Given the description of an element on the screen output the (x, y) to click on. 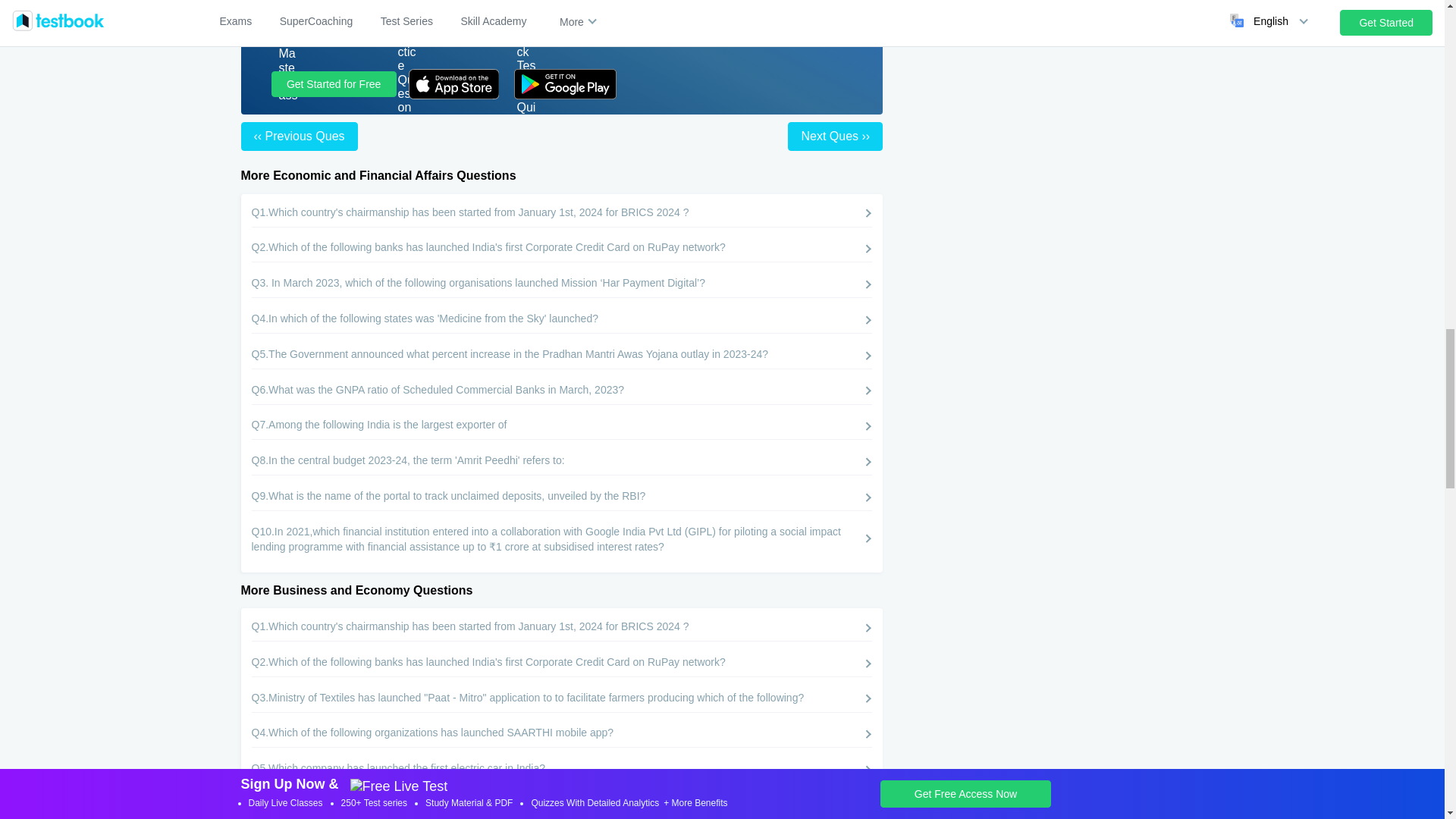
Get Started for Free (333, 84)
